Given the description of an element on the screen output the (x, y) to click on. 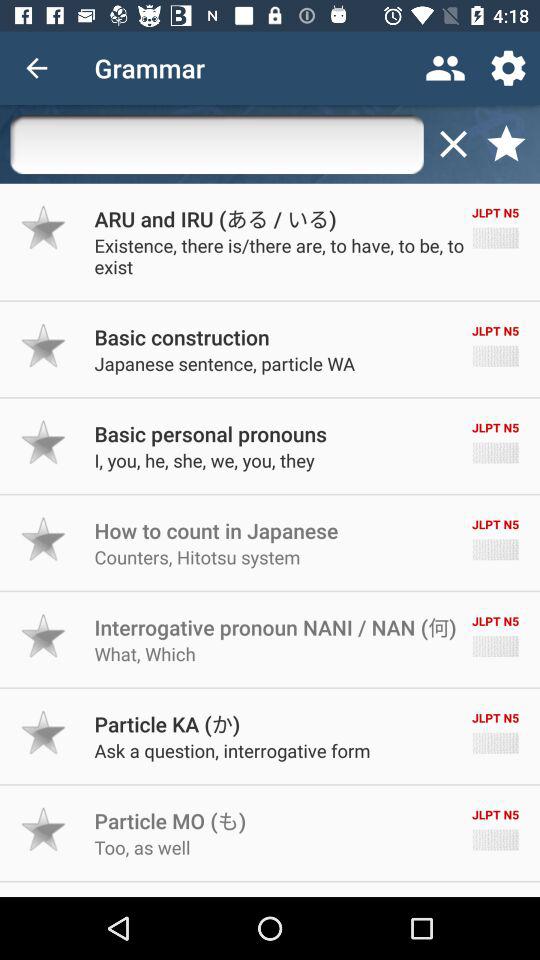
add to favorites (44, 539)
